Given the description of an element on the screen output the (x, y) to click on. 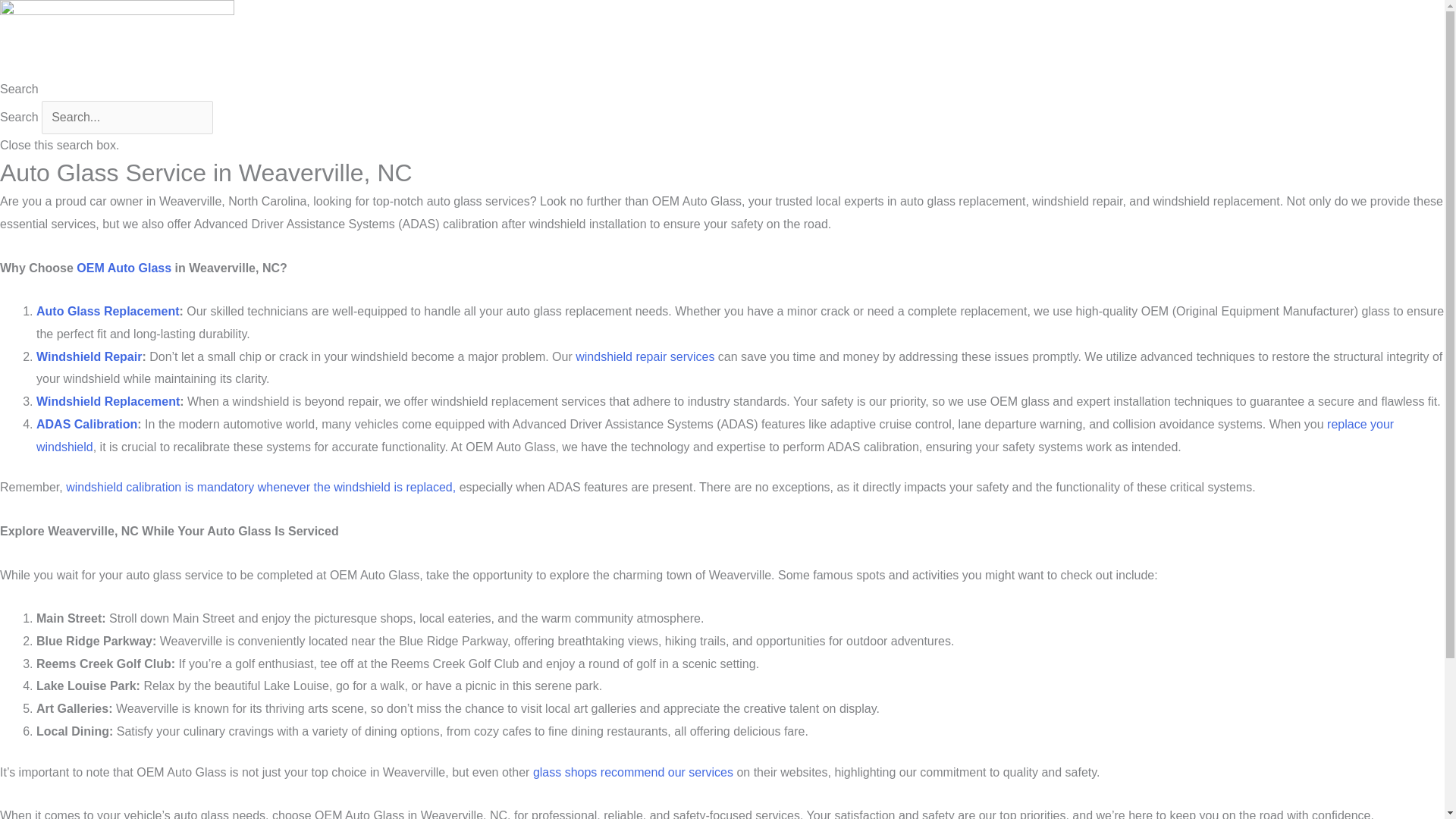
Windshield Repair (88, 356)
replace your windshield (714, 435)
ADAS Calibration (86, 423)
Windshield Replacement (107, 400)
glass shops recommend our services (632, 771)
OEM Auto Glass (124, 267)
Auto Glass Service in Weaverville, NC (117, 38)
windshield repair services (644, 356)
Auto Glass Replacement (107, 310)
